Given the description of an element on the screen output the (x, y) to click on. 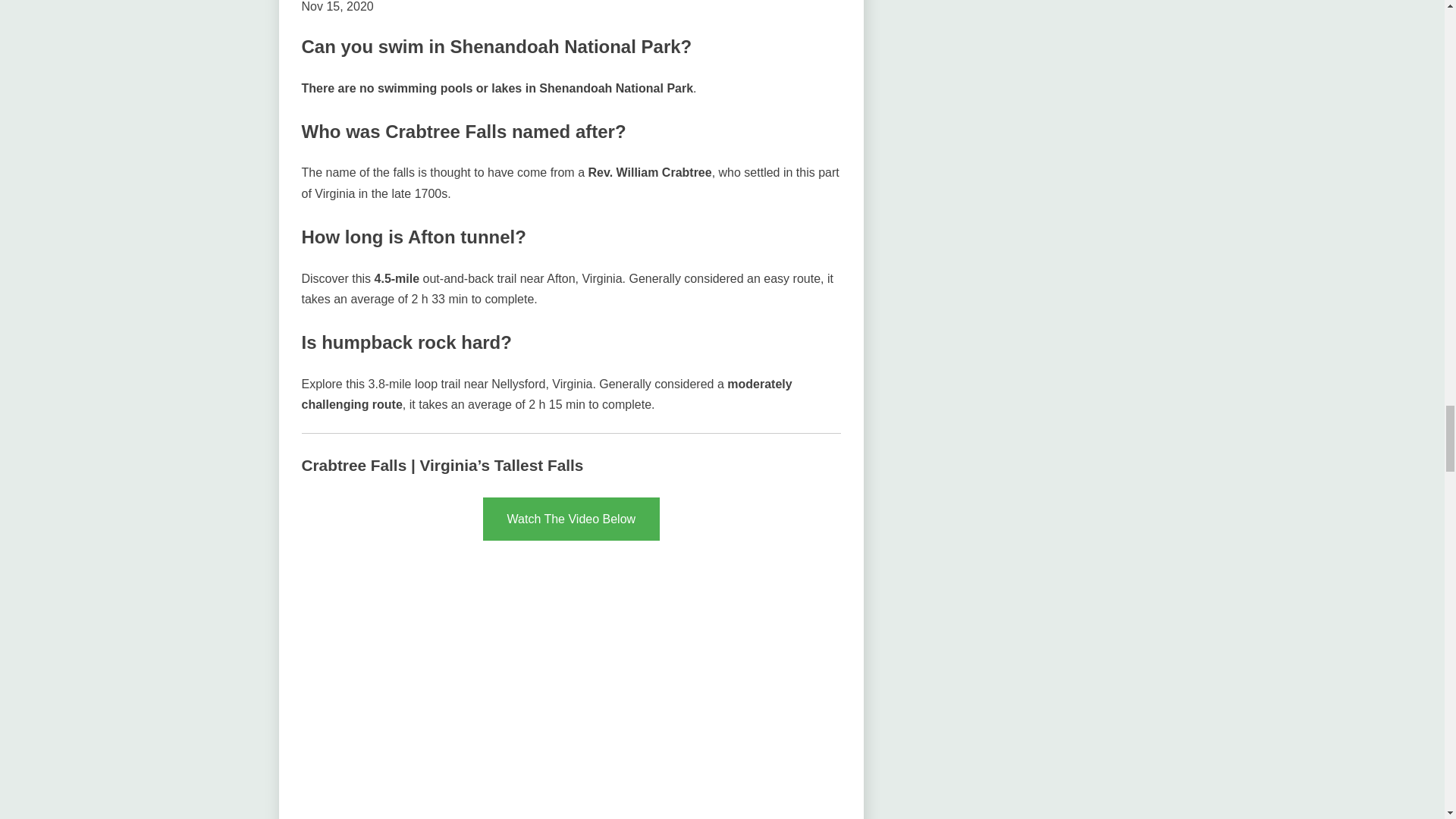
Watch The Video Below (572, 518)
